Given the description of an element on the screen output the (x, y) to click on. 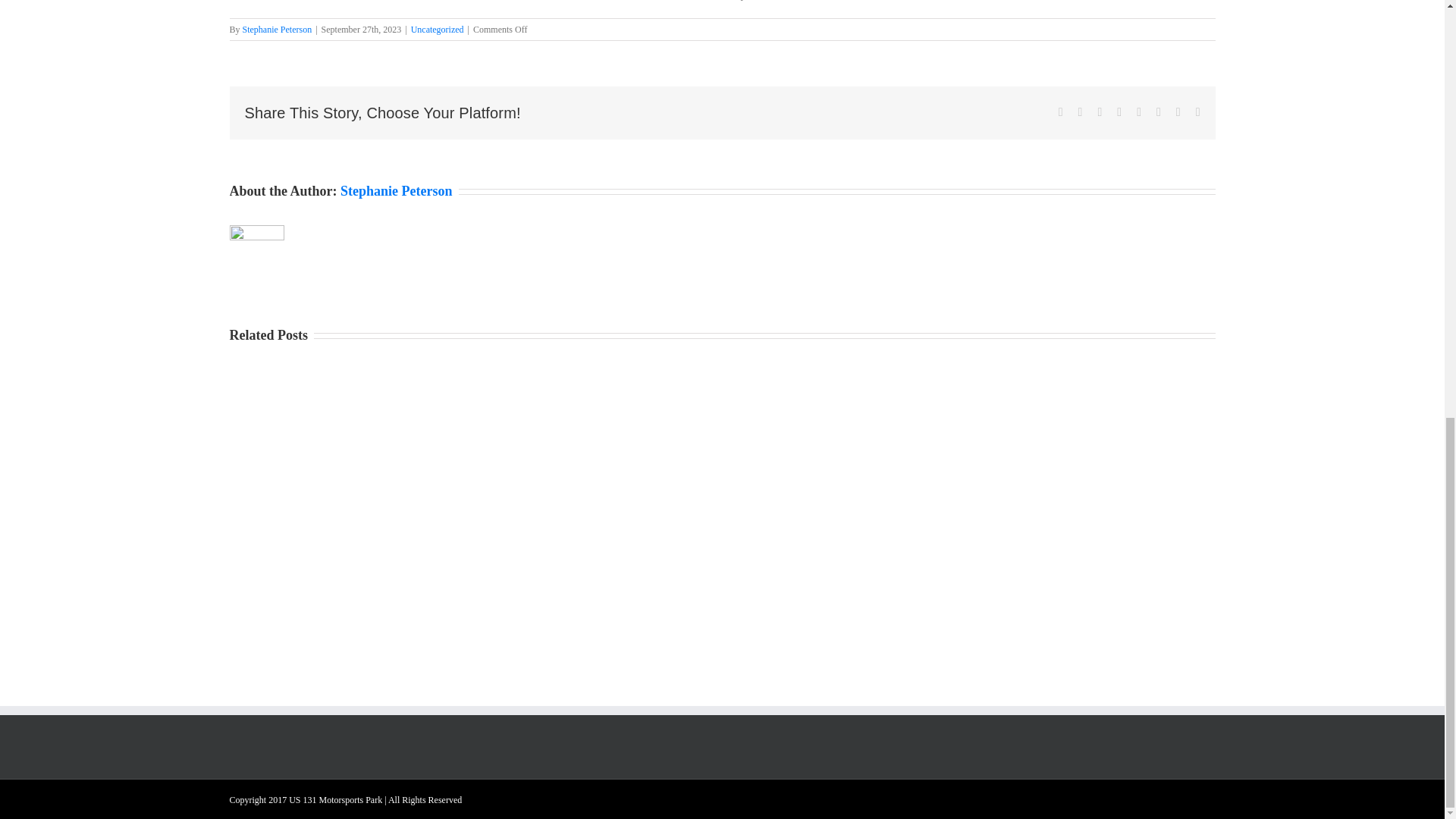
Uncategorized (437, 29)
Stephanie Peterson (278, 29)
Posts by Stephanie Peterson (396, 191)
Posts by Stephanie Peterson (278, 29)
